Given the description of an element on the screen output the (x, y) to click on. 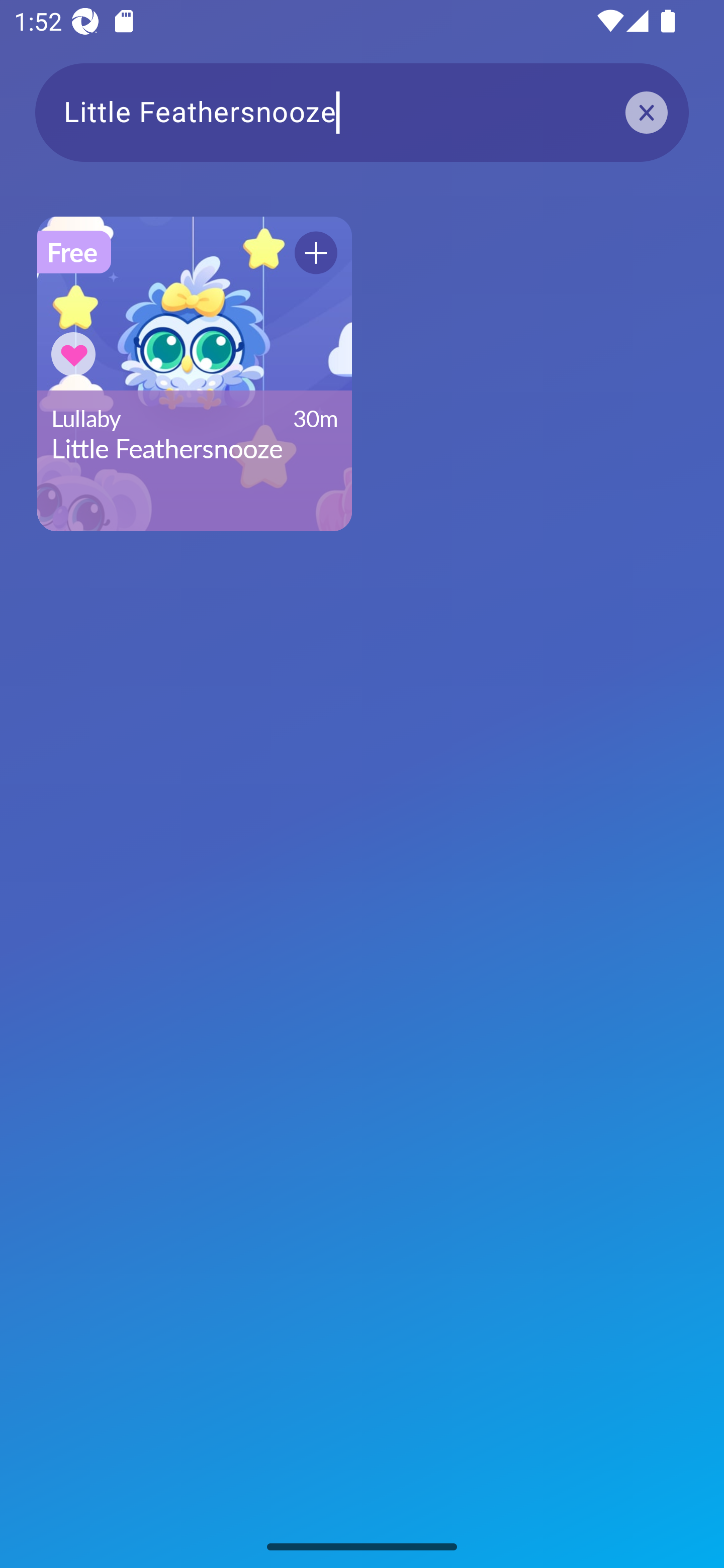
Little Feathersnooze (361, 111)
Button (315, 252)
Button (73, 354)
